Given the description of an element on the screen output the (x, y) to click on. 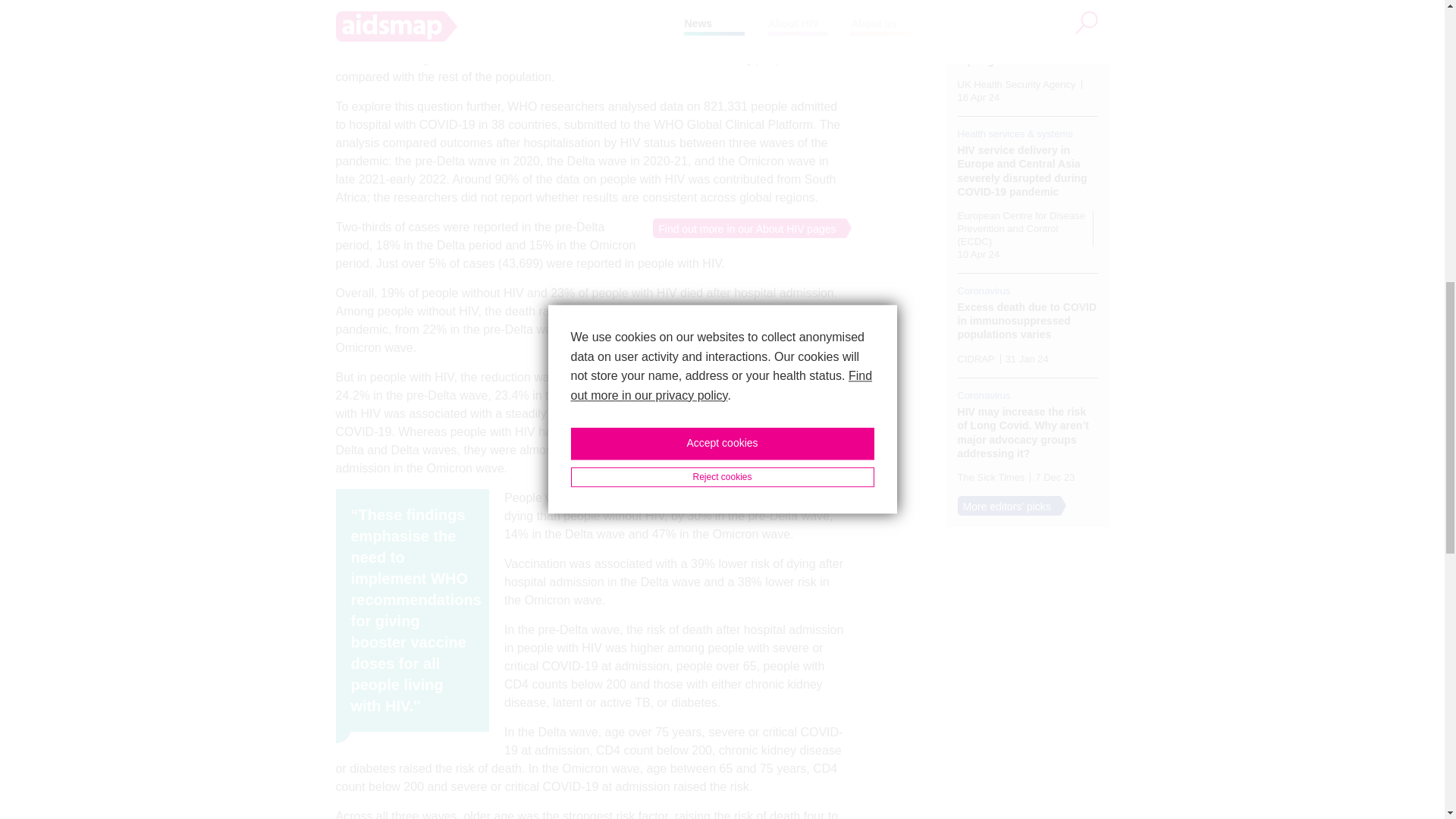
Find out more in our About HIV pages (743, 228)
A WHO analysis presented at AIDS 2022 (535, 40)
